Given the description of an element on the screen output the (x, y) to click on. 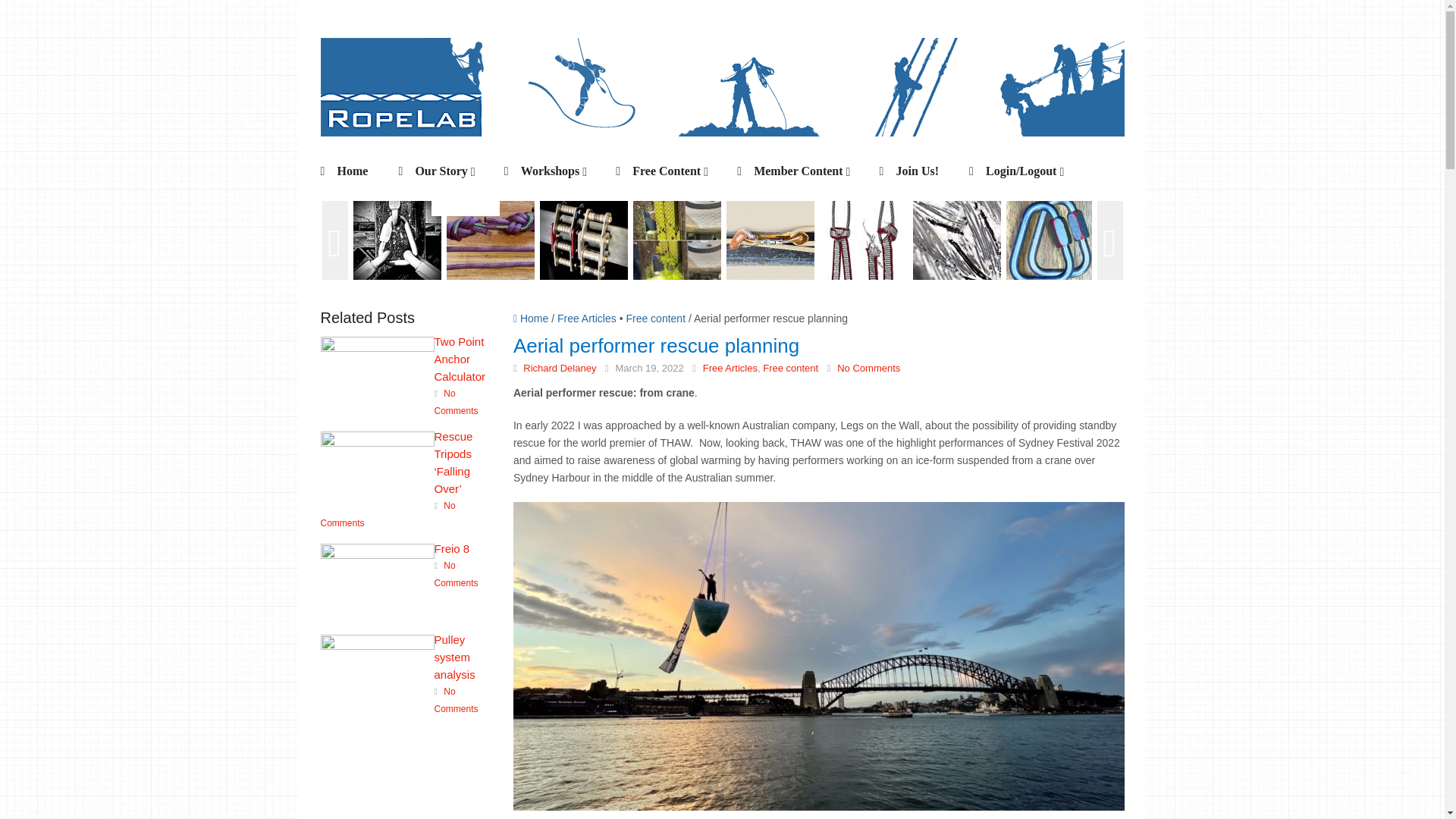
Our Story (439, 170)
Join Us! (909, 170)
Member Content (796, 170)
Free Content (665, 170)
Posts by Richard Delaney (558, 367)
Workshops (548, 170)
Home (344, 170)
Two Point Anchor Calculator (402, 358)
